Given the description of an element on the screen output the (x, y) to click on. 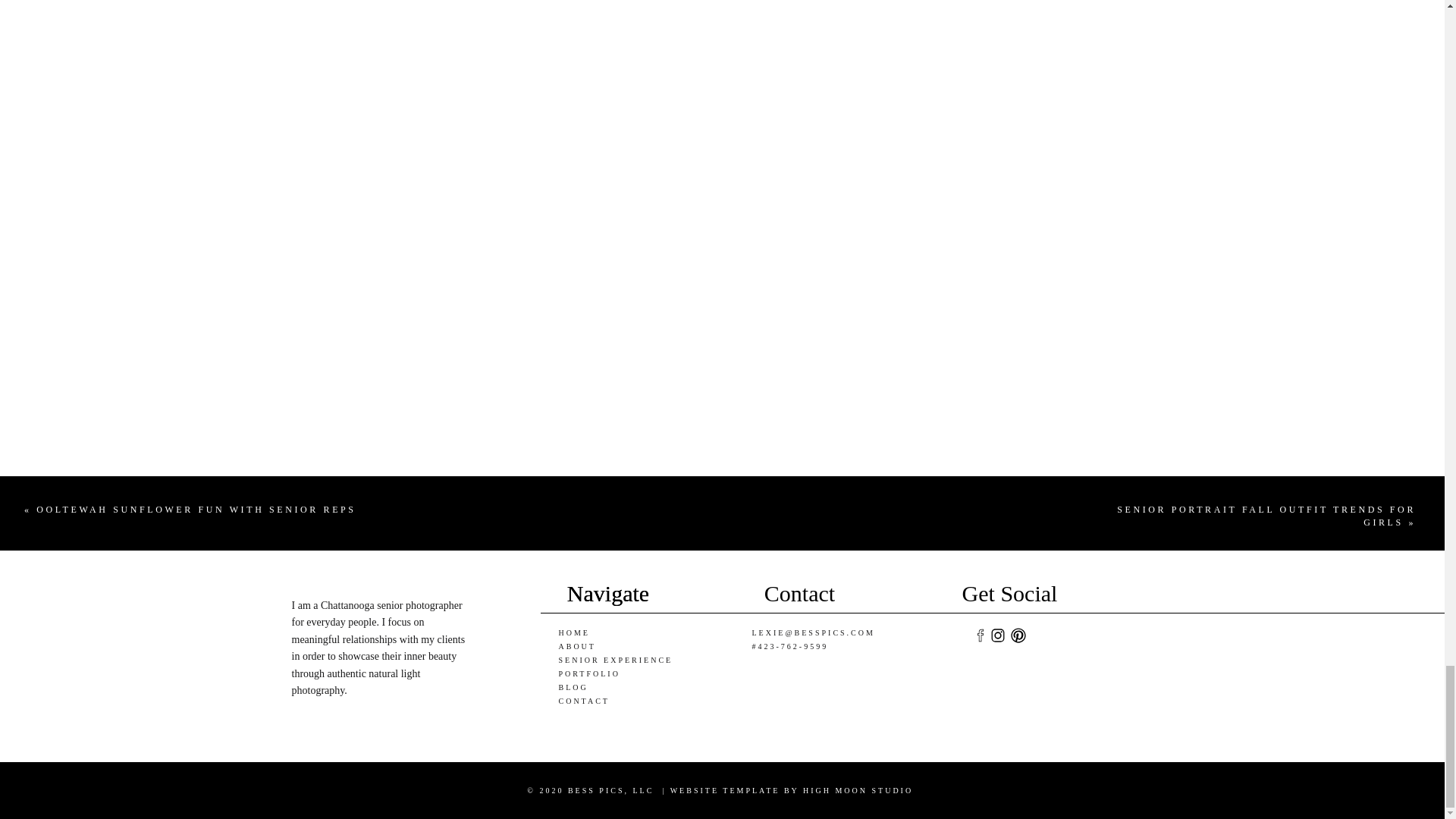
SENIOR EXPERIENCE (614, 660)
PORTFOLIO (588, 673)
HOME (573, 632)
ABOUT (576, 646)
CONTACT (582, 700)
HIGH MOON STUDIO (857, 790)
OOLTEWAH SUNFLOWER FUN WITH SENIOR REPS (195, 509)
SENIOR PORTRAIT FALL OUTFIT TRENDS FOR GIRLS (1265, 515)
BLOG (572, 687)
